Given the description of an element on the screen output the (x, y) to click on. 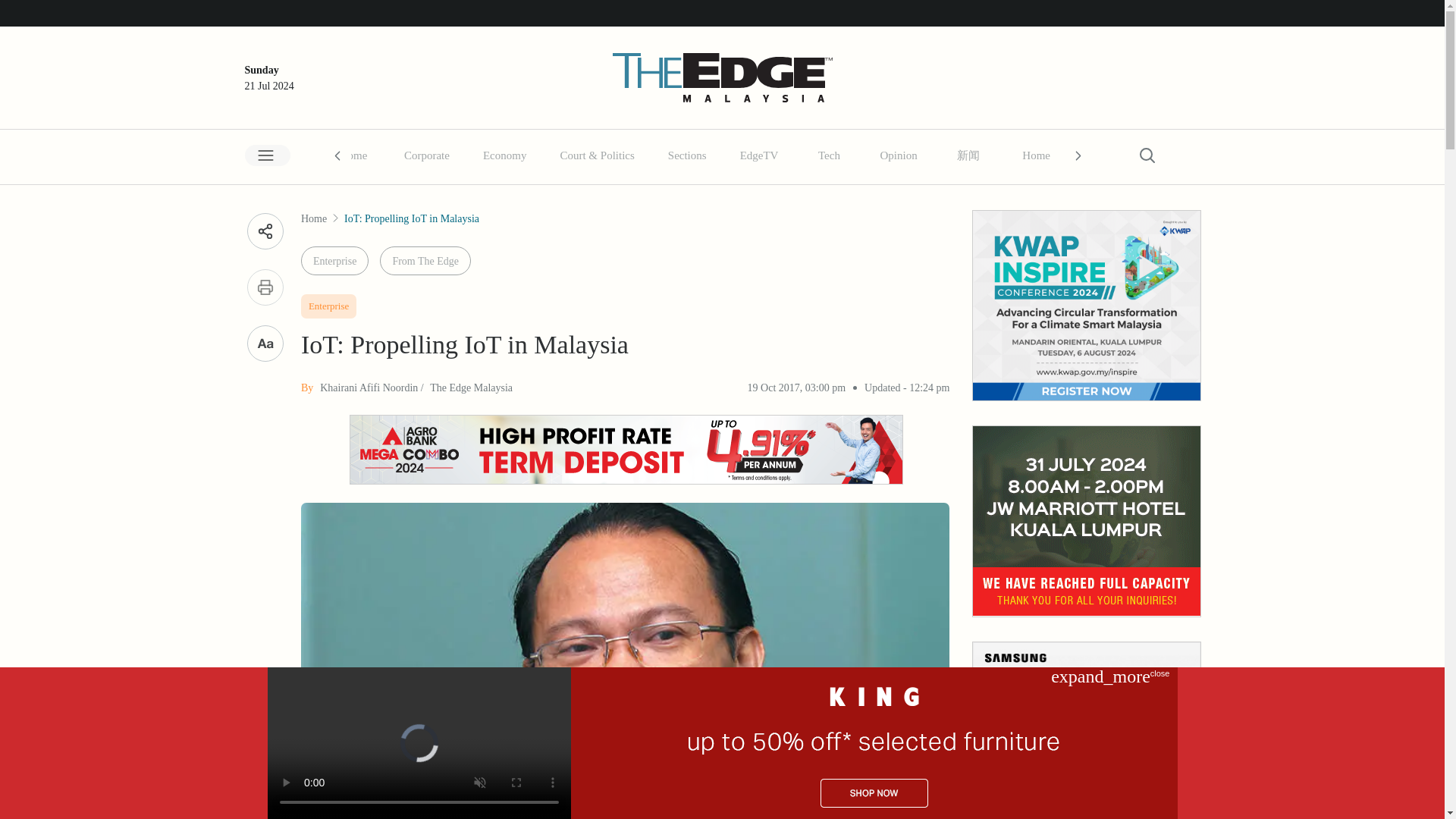
Sections (694, 154)
Opinion (905, 154)
Corporate (426, 154)
Home (1044, 154)
Corporate (434, 154)
EdgeTV (766, 154)
Tech (829, 154)
3rd party ad content (1085, 305)
Home (360, 154)
Sections (687, 154)
Opinion (898, 154)
Home (353, 154)
3rd party ad content (1085, 520)
Tech (836, 154)
Economy (504, 154)
